Given the description of an element on the screen output the (x, y) to click on. 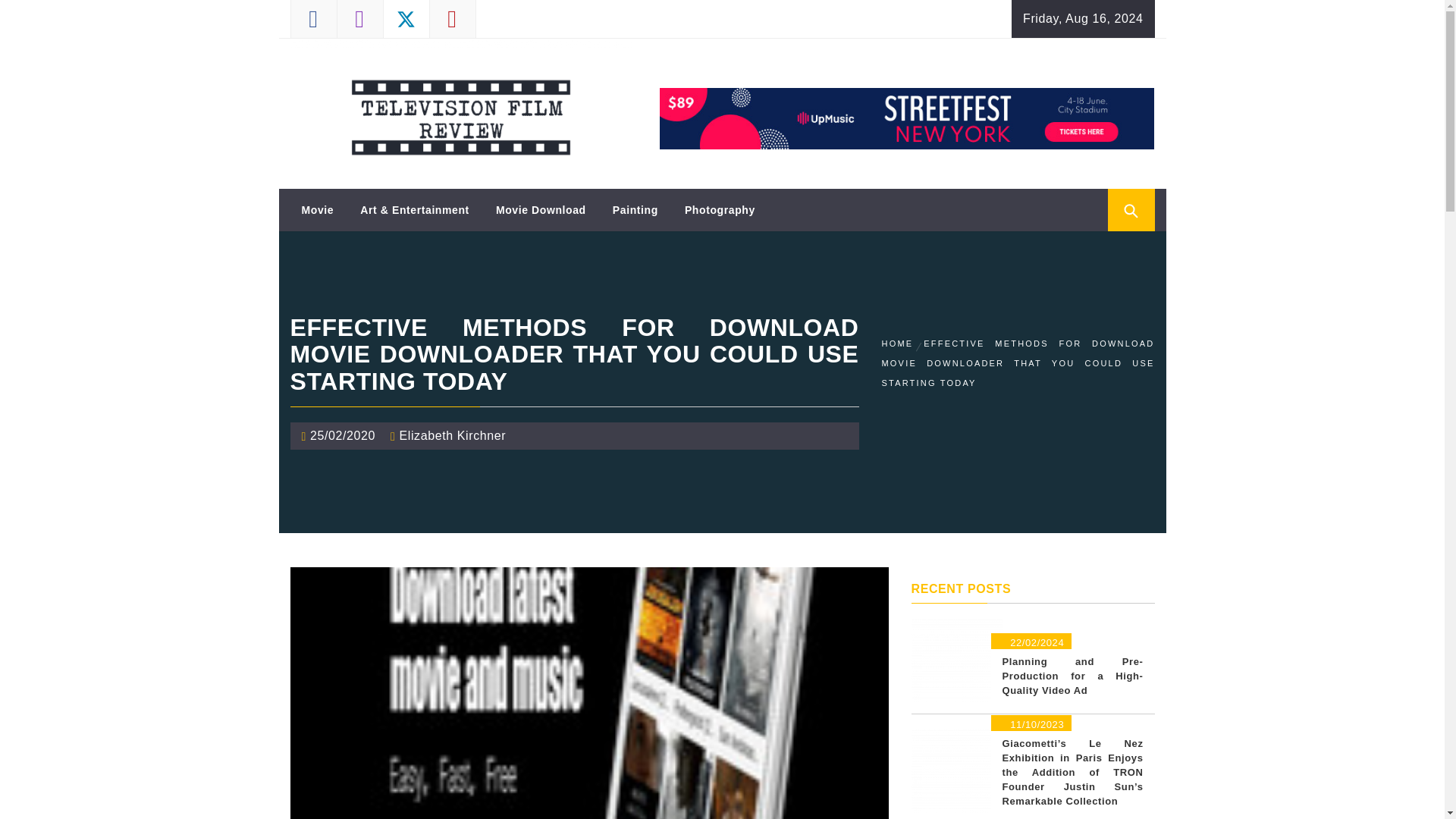
Painting (635, 209)
Movie Download (540, 209)
Photography (719, 209)
Elizabeth Kirchner (452, 435)
Movie (317, 209)
TELEVISION FILM REVIEW (429, 70)
HOME (899, 343)
